Given the description of an element on the screen output the (x, y) to click on. 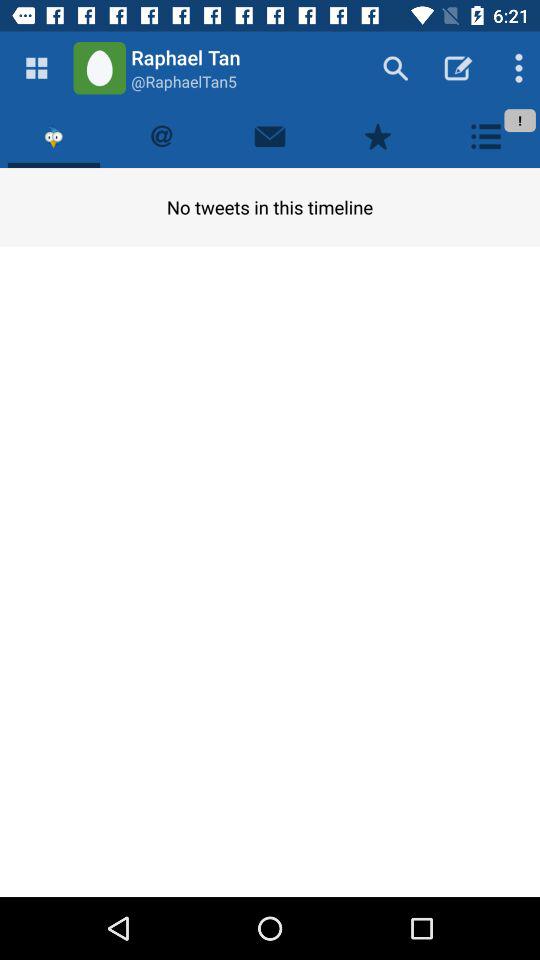
personal favorites (378, 136)
